Given the description of an element on the screen output the (x, y) to click on. 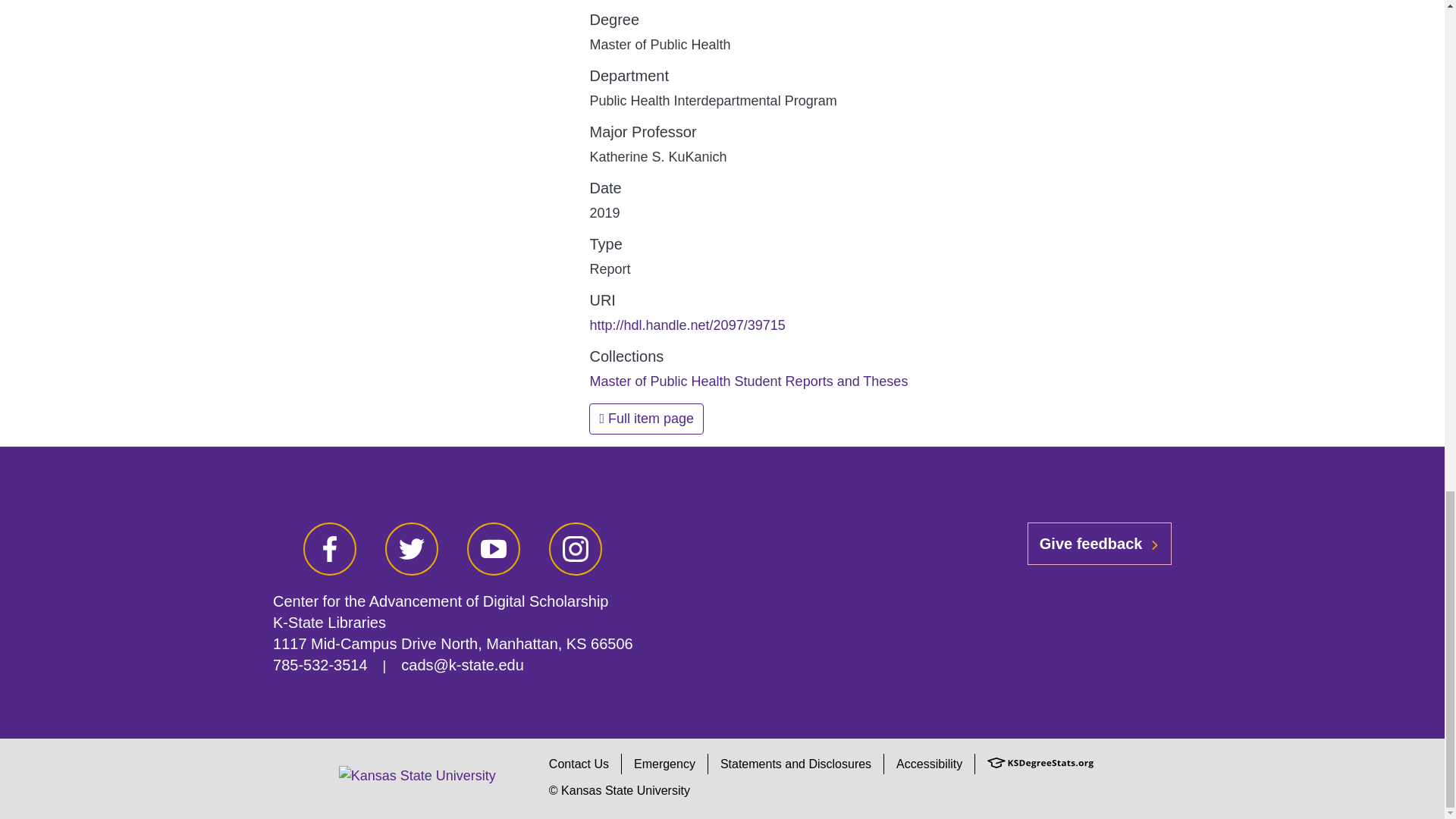
Full item page (646, 418)
chevron (1154, 544)
Master of Public Health Student Reports and Theses (748, 381)
